Given the description of an element on the screen output the (x, y) to click on. 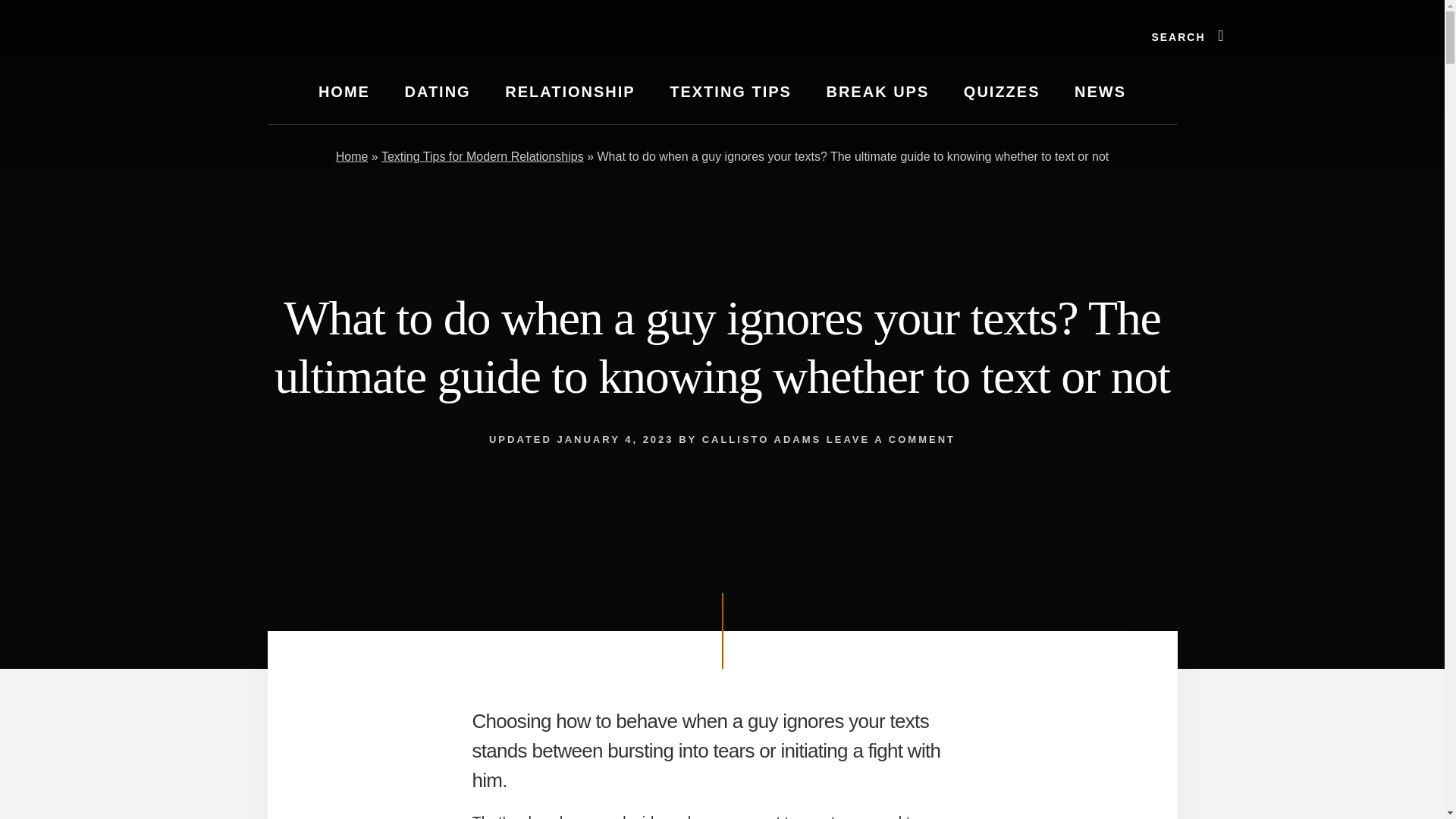
CALLISTO ADAMS (761, 439)
HOME (343, 91)
BREAK UPS (876, 91)
DATING (436, 91)
TEXTING TIPS (729, 91)
Home (352, 155)
NEWS (1100, 91)
LEAVE A COMMENT (891, 439)
QUIZZES (1002, 91)
Texting Tips for Modern Relationships (482, 155)
RELATIONSHIP (569, 91)
